Given the description of an element on the screen output the (x, y) to click on. 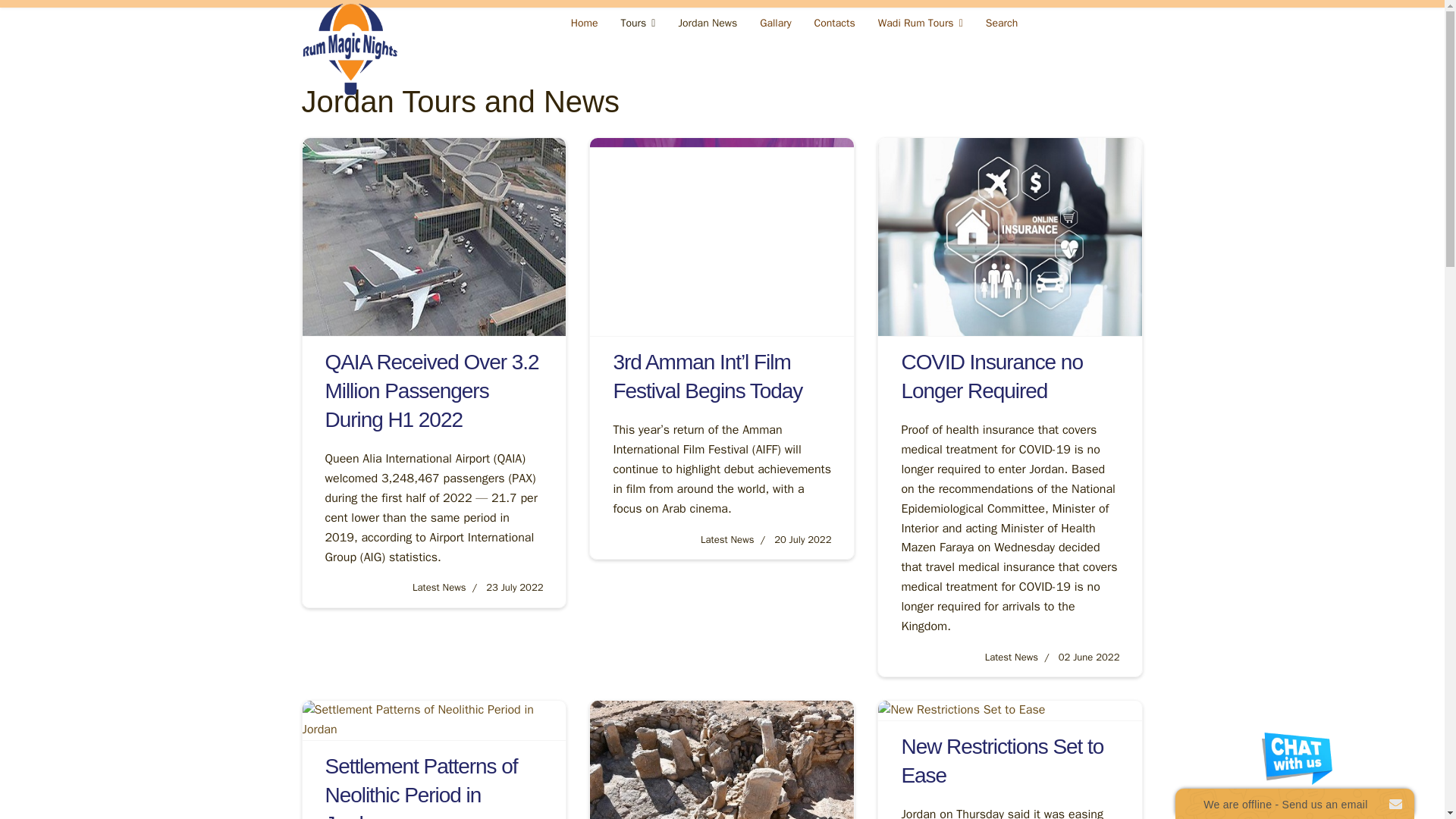
Category: Latest News (438, 587)
Category: Latest News (1011, 657)
QAIA Received Over 3.2 Million Passengers During H1 2022 (431, 390)
Jordan News (707, 23)
Latest News (727, 539)
Latest News (438, 586)
Published: 23 July 2022 (504, 587)
Contacts (834, 23)
Search (1001, 23)
New Restrictions Set to Ease (1002, 760)
